Given the description of an element on the screen output the (x, y) to click on. 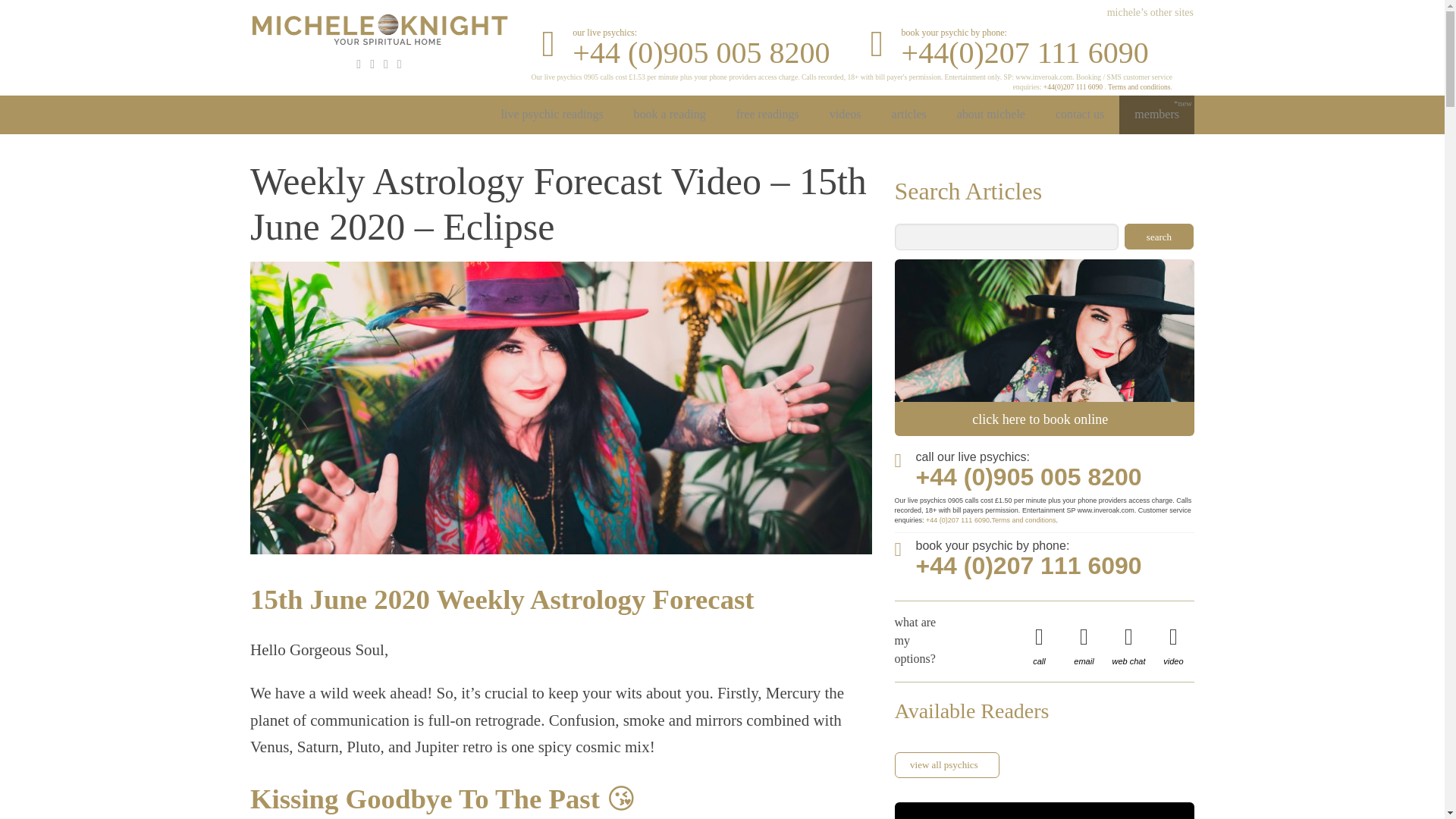
search (1158, 236)
call for a live reading with our psychics (686, 52)
view our terms and conditions (1139, 86)
Call for a credit card reading with our psychics (1015, 52)
